Given the description of an element on the screen output the (x, y) to click on. 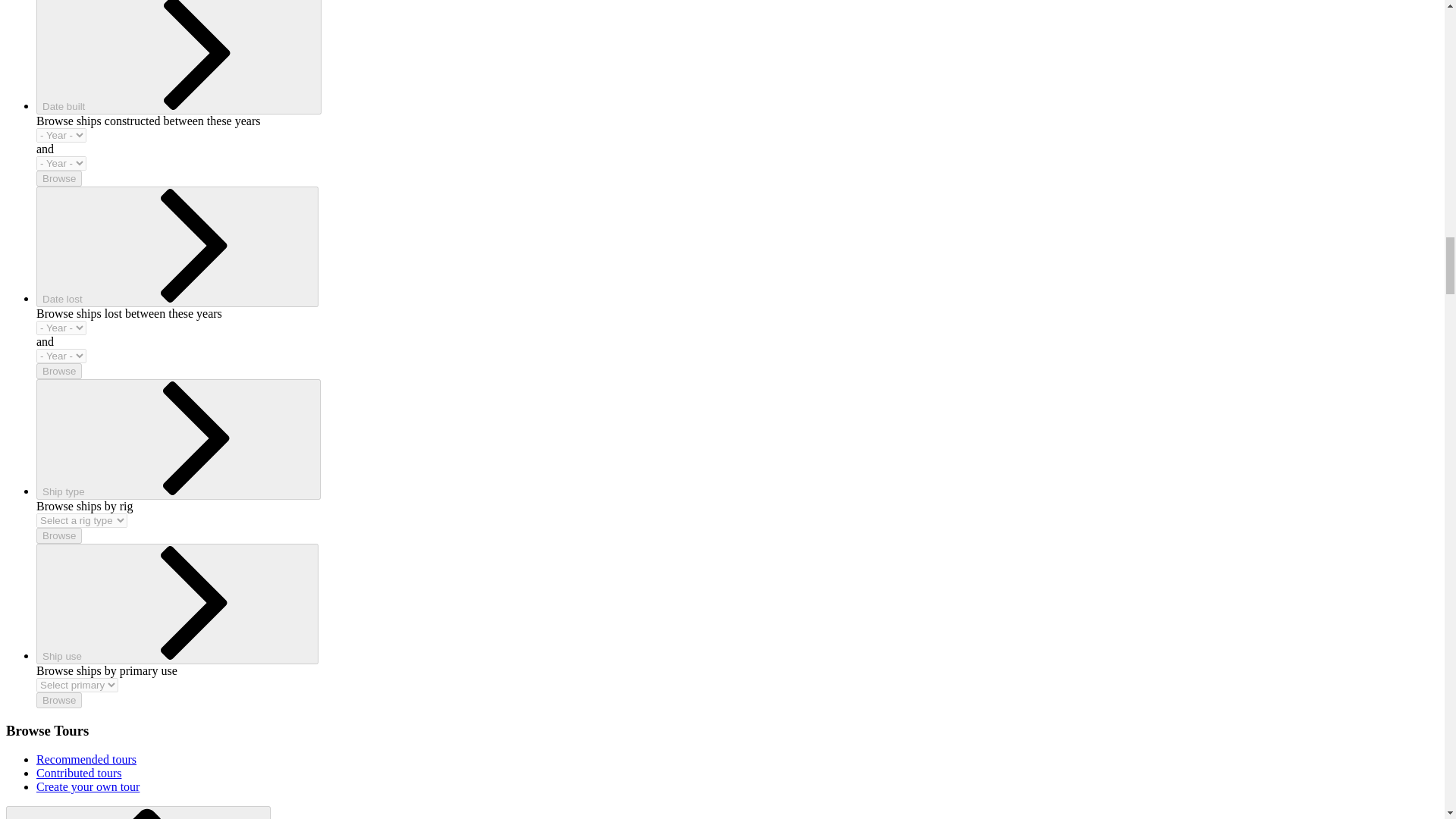
Date built (178, 57)
Browse (58, 535)
Recommended tours (86, 758)
Browse (58, 700)
Date lost (177, 246)
Browse (58, 178)
Browse (58, 371)
Ship use (177, 603)
Contributed tours (78, 772)
Ship type (178, 439)
